Given the description of an element on the screen output the (x, y) to click on. 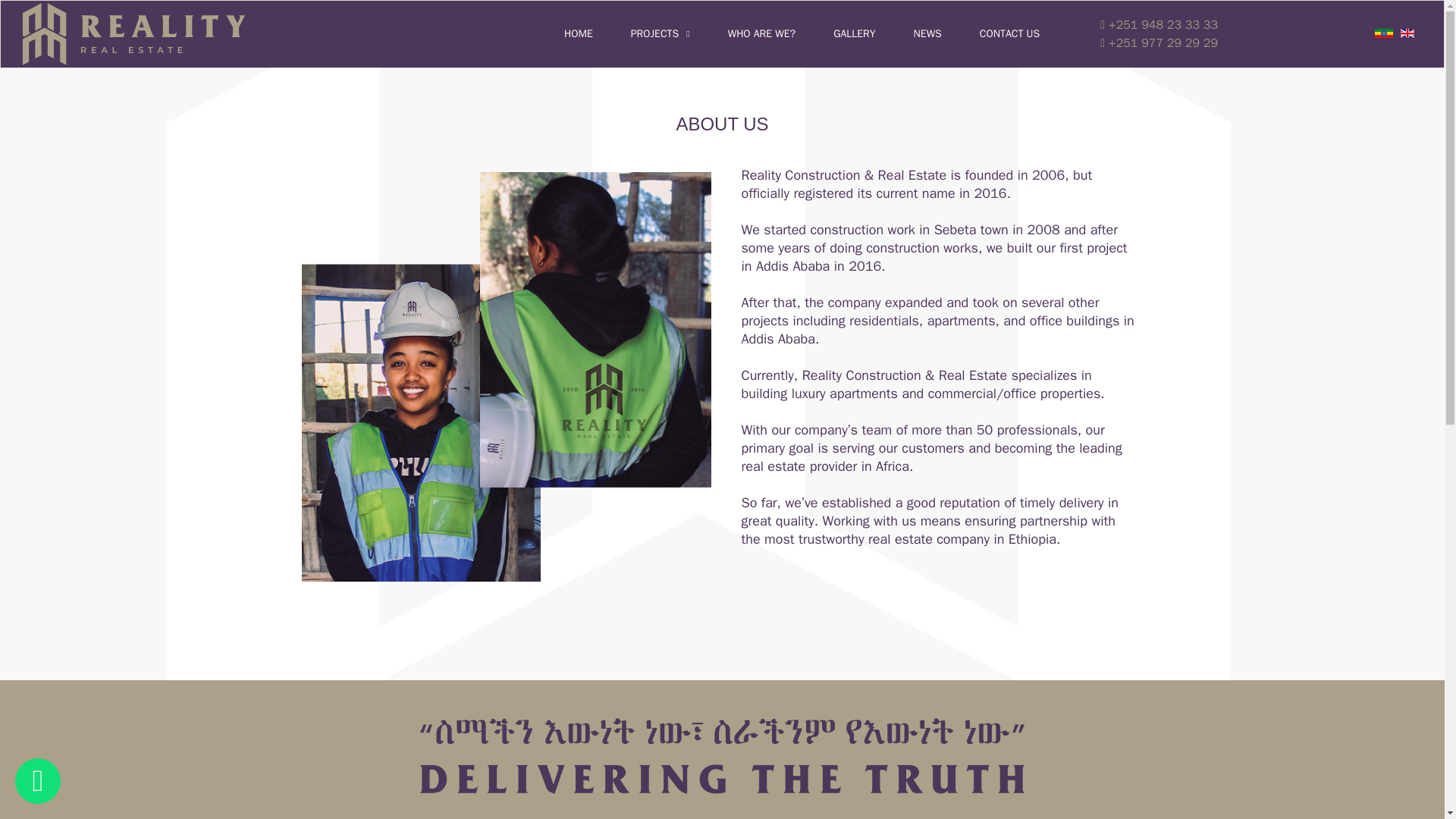
GALLERY (872, 33)
WHO ARE WE? (781, 33)
PROJECTS (679, 33)
HOME (597, 33)
NEWS (946, 33)
CONTACT US (1028, 33)
